Given the description of an element on the screen output the (x, y) to click on. 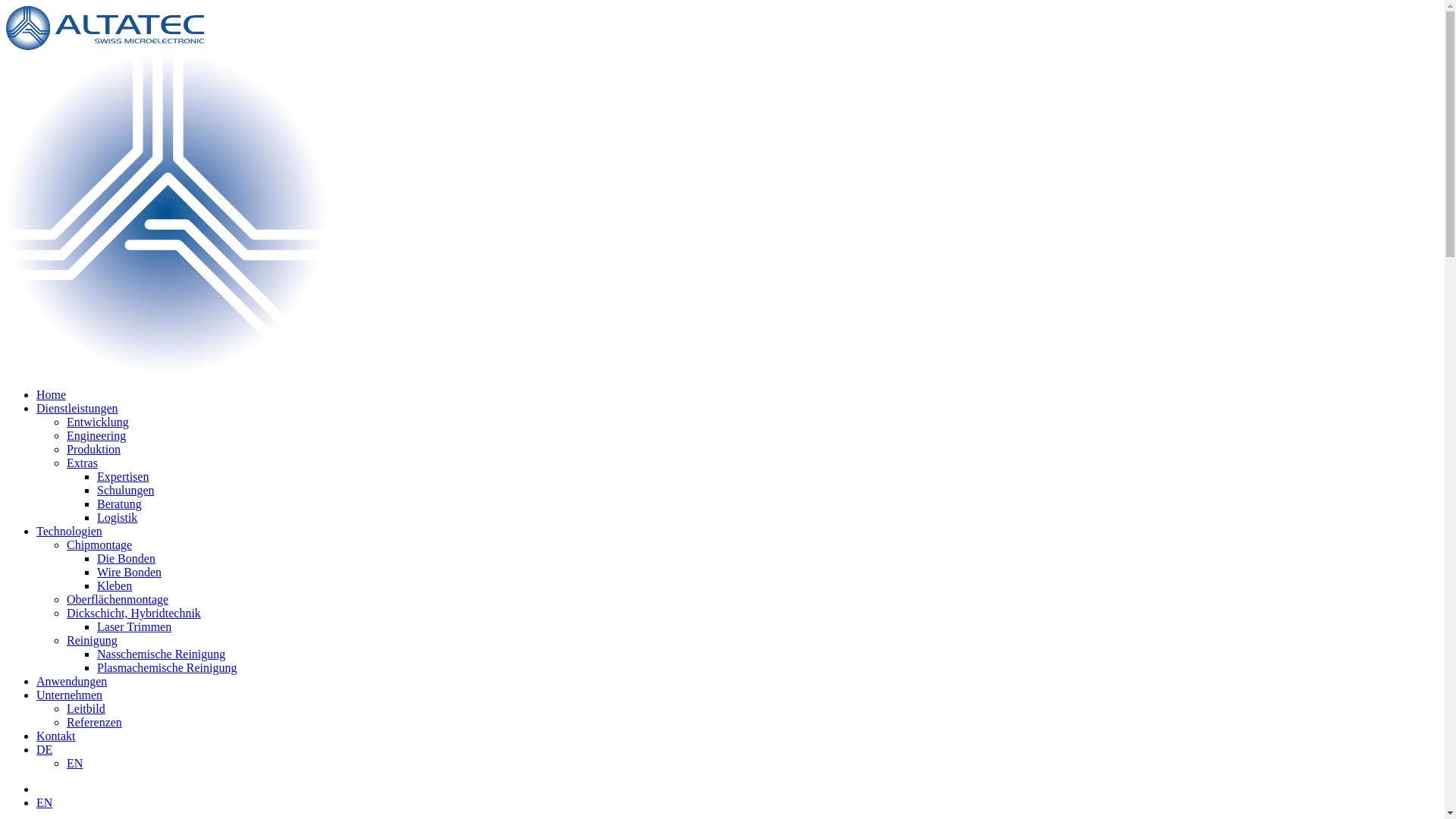
Nasschemische Reinigung Element type: text (161, 653)
EN Element type: text (44, 802)
Dienstleistungen Element type: text (77, 407)
Leitbild Element type: text (85, 708)
Technologien Element type: text (69, 530)
EN Element type: text (74, 762)
Logistik Element type: text (117, 517)
Plasmachemische Reinigung Element type: text (166, 667)
Kontakt Element type: text (55, 735)
Schulungen Element type: text (125, 489)
Home Element type: text (50, 394)
Reinigung Element type: text (91, 639)
Dickschicht, Hybridtechnik Element type: text (133, 612)
Referenzen Element type: text (94, 721)
Die Bonden Element type: text (126, 558)
Engineering Element type: text (95, 435)
Kleben Element type: text (114, 585)
Entwicklung Element type: text (97, 421)
Chipmontage Element type: text (98, 544)
Anwendungen Element type: text (71, 680)
Laser Trimmen Element type: text (134, 626)
Beratung Element type: text (119, 503)
Produktion Element type: text (93, 448)
DE Element type: text (44, 749)
Unternehmen Element type: text (69, 694)
Expertisen Element type: text (122, 476)
Extras Element type: text (81, 462)
Wire Bonden Element type: text (129, 571)
